Given the description of an element on the screen output the (x, y) to click on. 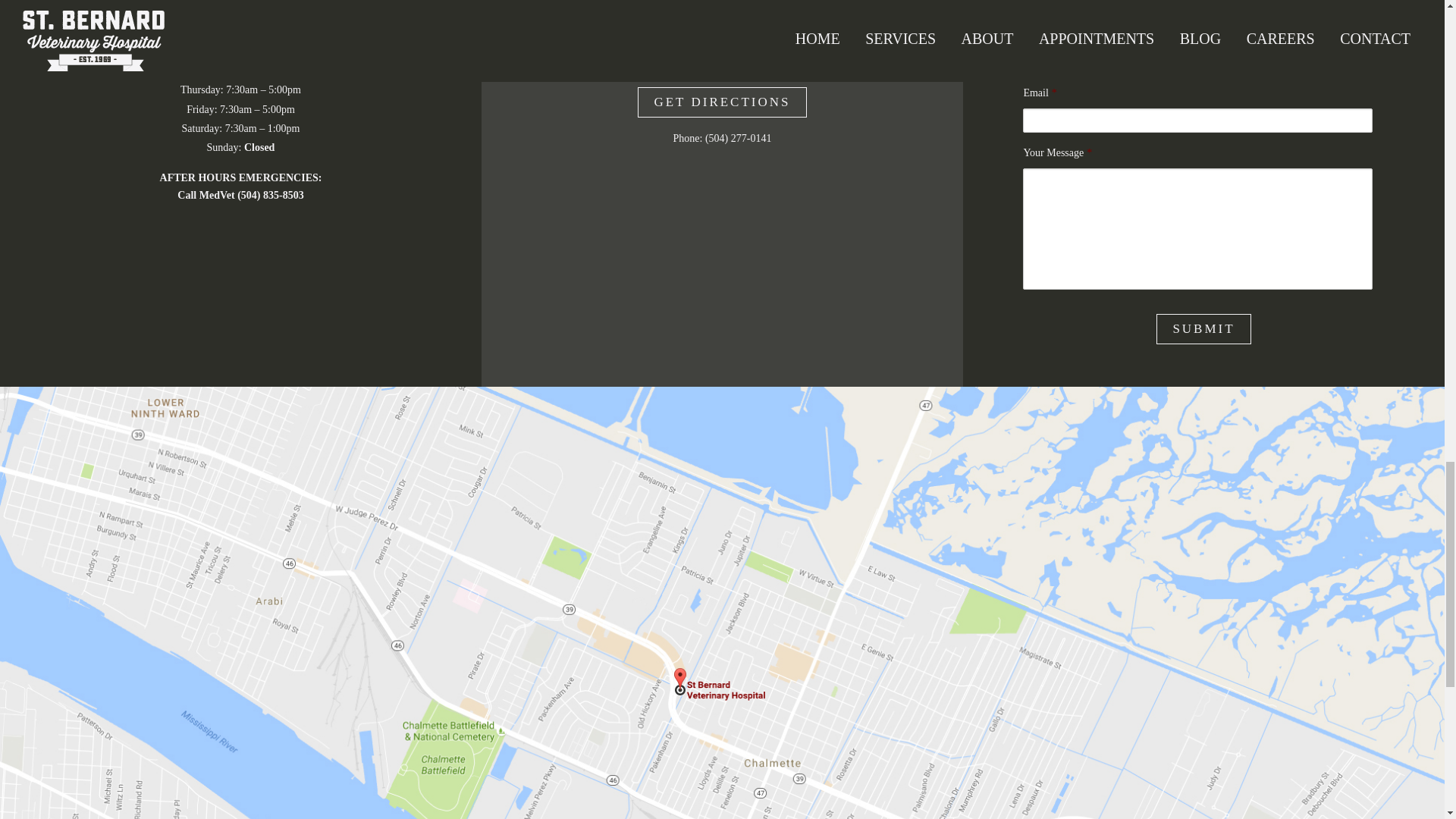
Submit (1203, 328)
GET DIRECTIONS (721, 101)
Submit (1203, 328)
